Given the description of an element on the screen output the (x, y) to click on. 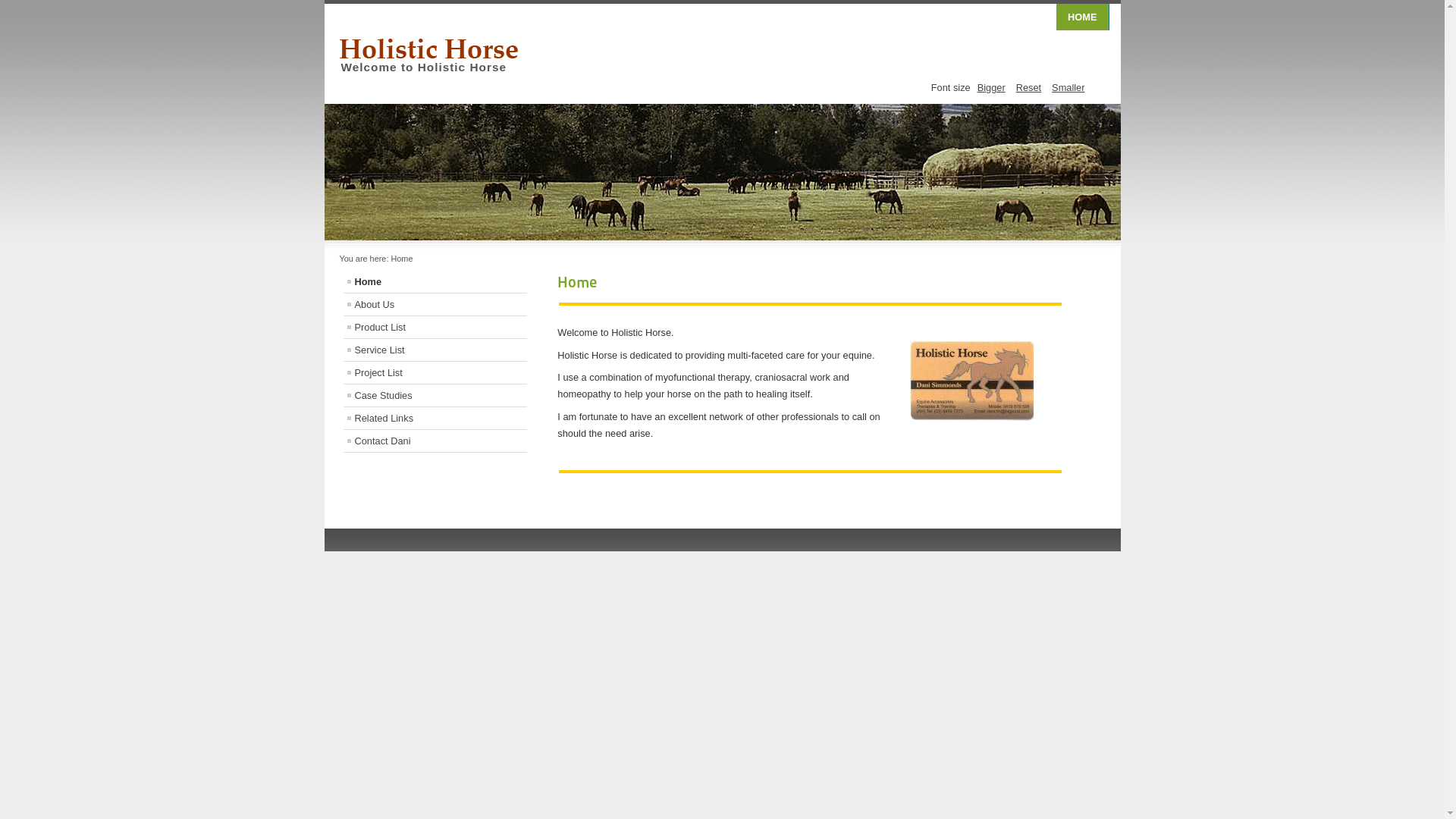
Related Links Element type: text (434, 418)
Project List Element type: text (434, 372)
Contact Dani Element type: text (434, 440)
About Us Element type: text (434, 304)
Product List Element type: text (434, 327)
HOME Element type: text (1082, 16)
Case Studies Element type: text (434, 395)
Bigger Element type: text (991, 87)
Reset Element type: text (1028, 87)
Smaller Element type: text (1068, 87)
Service List Element type: text (434, 349)
Home Element type: text (434, 281)
